Given the description of an element on the screen output the (x, y) to click on. 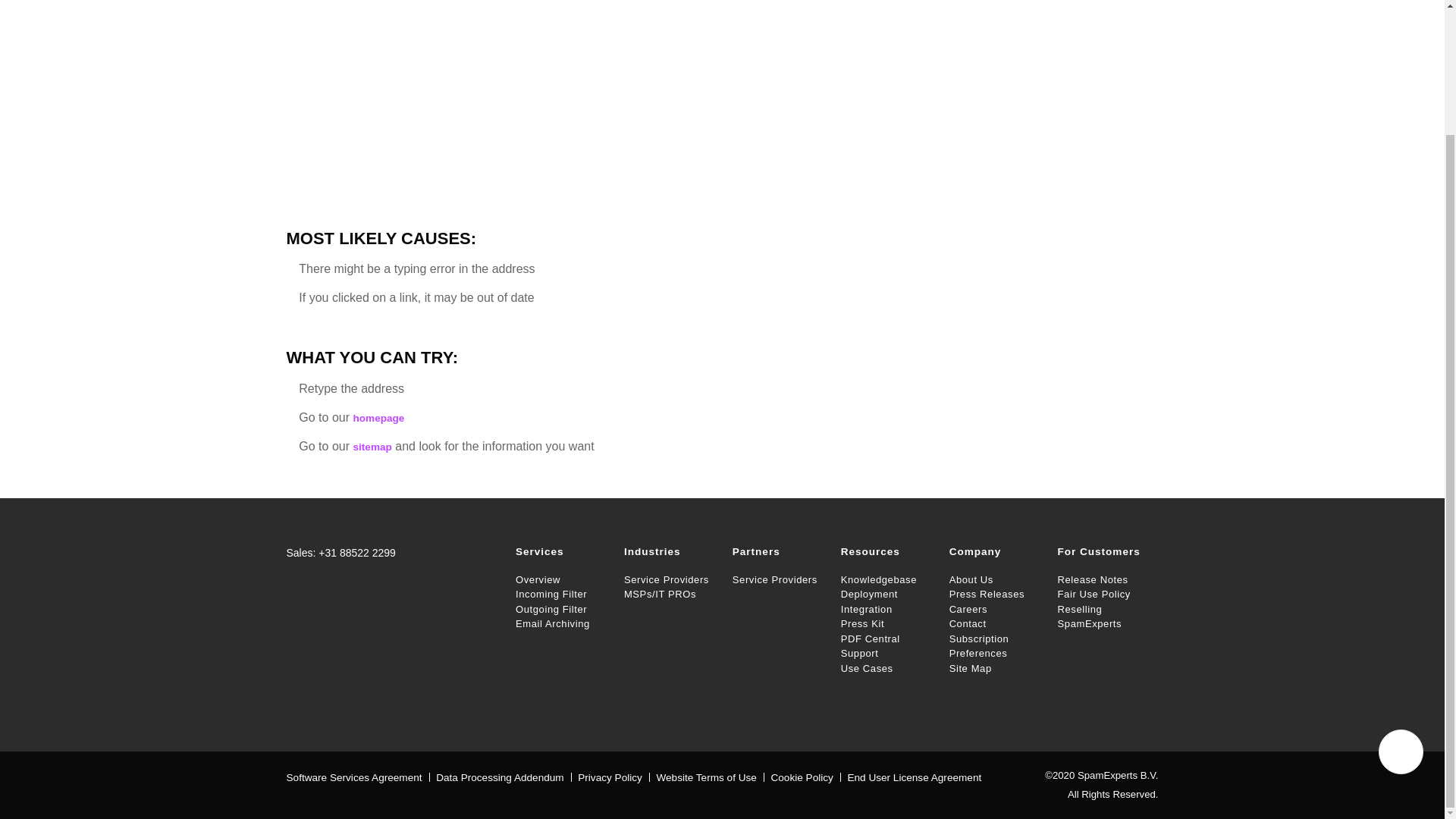
Service Providers (670, 580)
homepage (378, 418)
Overview (561, 580)
Outgoing Filter (561, 609)
Industries (670, 554)
Email Archiving (561, 623)
sitemap (371, 446)
Incoming Filter (561, 594)
Services (561, 554)
